Given the description of an element on the screen output the (x, y) to click on. 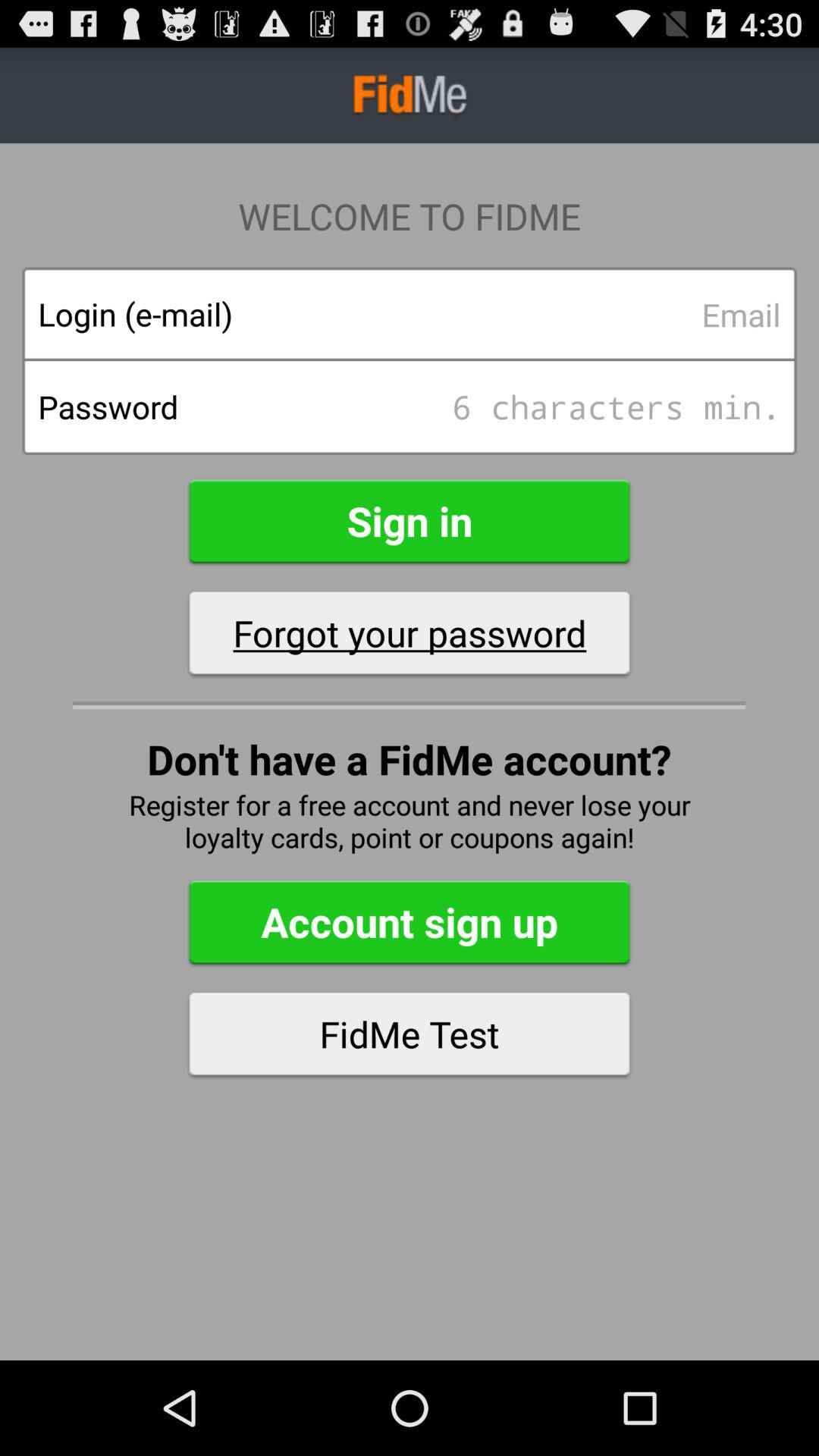
click on account sign up (409, 922)
